Given the description of an element on the screen output the (x, y) to click on. 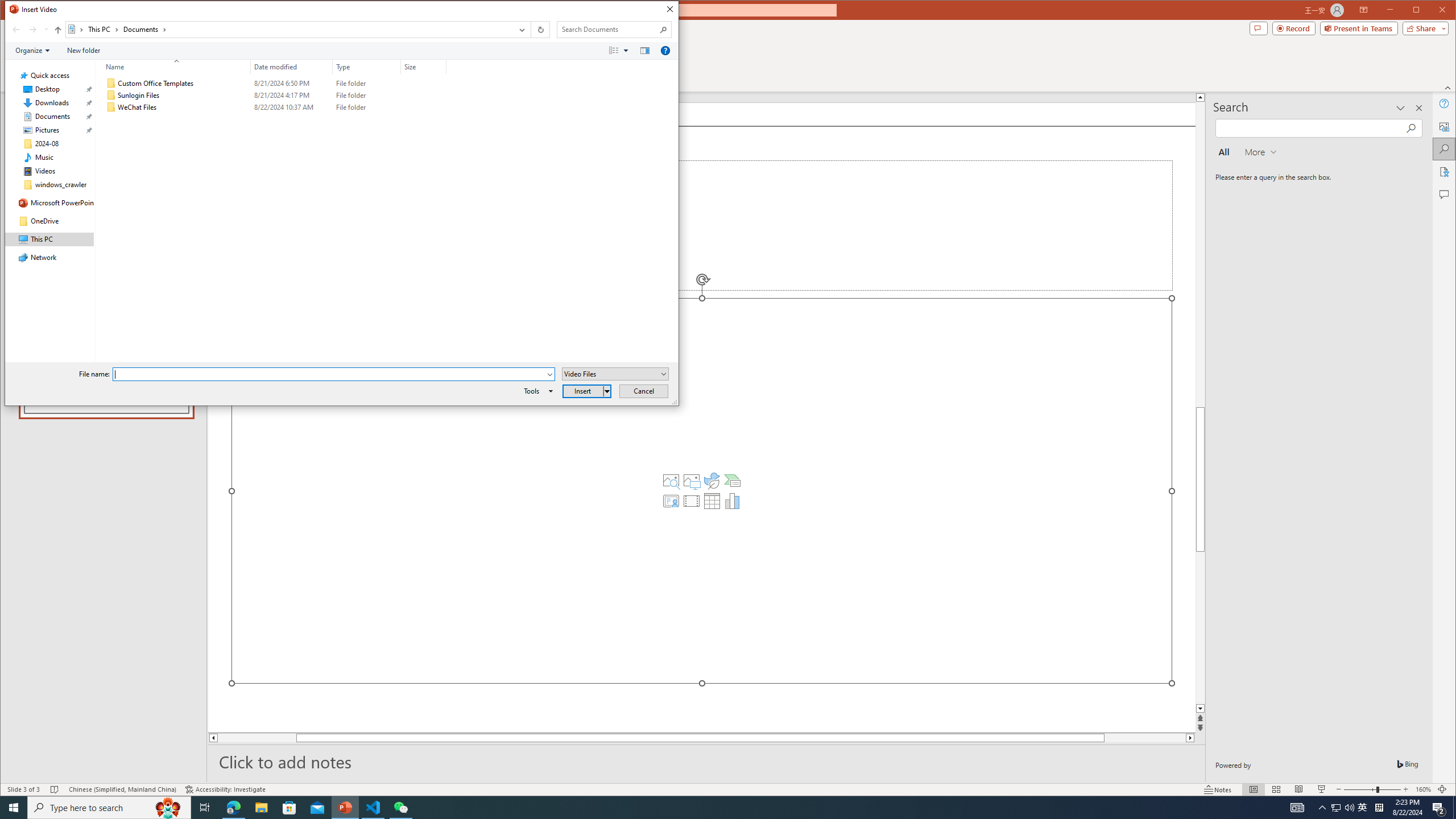
Preview pane (644, 50)
Name (173, 66)
Insert Table (711, 501)
WeChat - 1 running window (400, 807)
Pictures (691, 480)
All locations (75, 29)
Command Module (341, 50)
Search Box (608, 29)
